Given the description of an element on the screen output the (x, y) to click on. 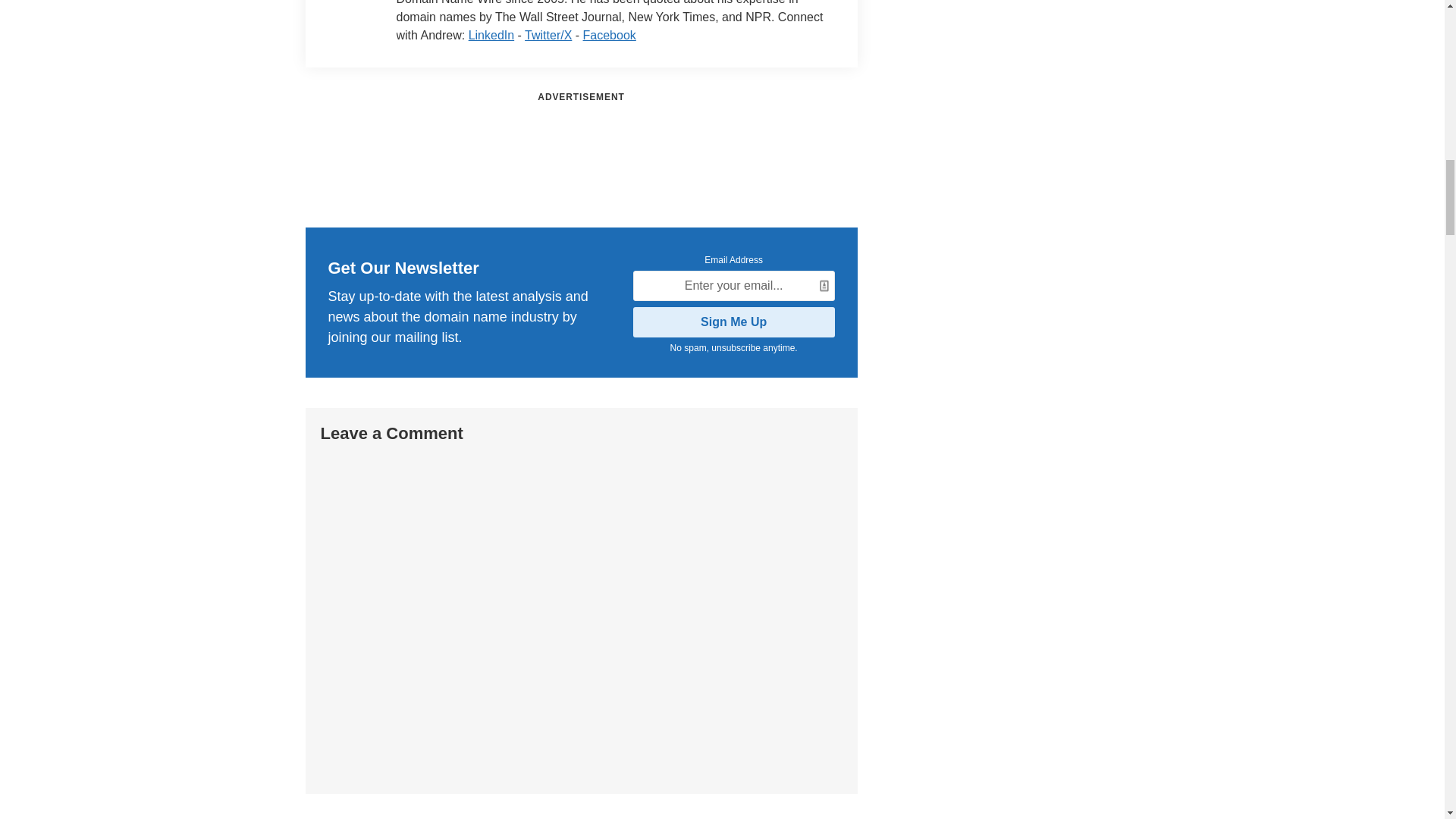
Sign Me Up (733, 322)
